Given the description of an element on the screen output the (x, y) to click on. 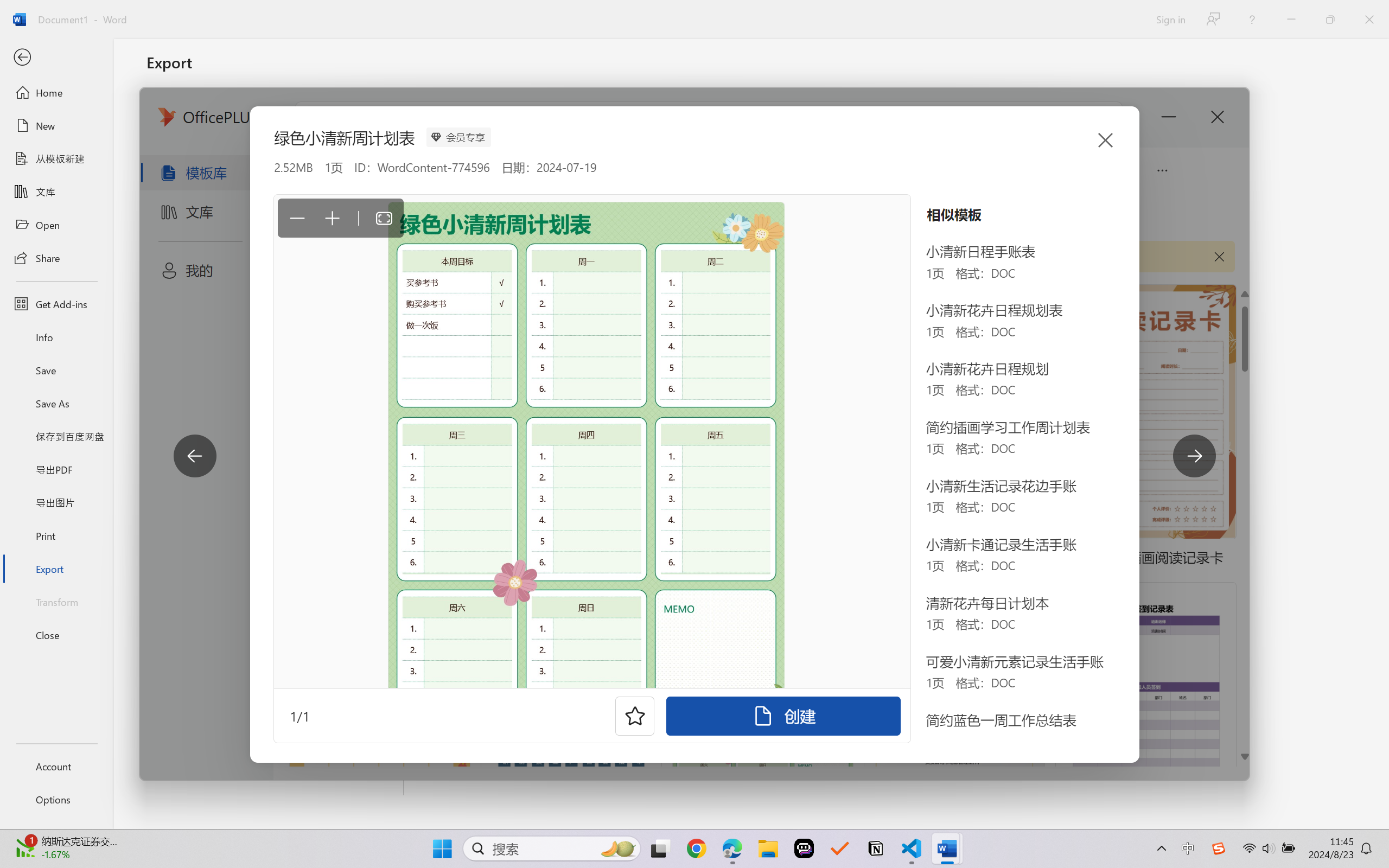
New (56, 125)
Sign in (1170, 18)
